Given the description of an element on the screen output the (x, y) to click on. 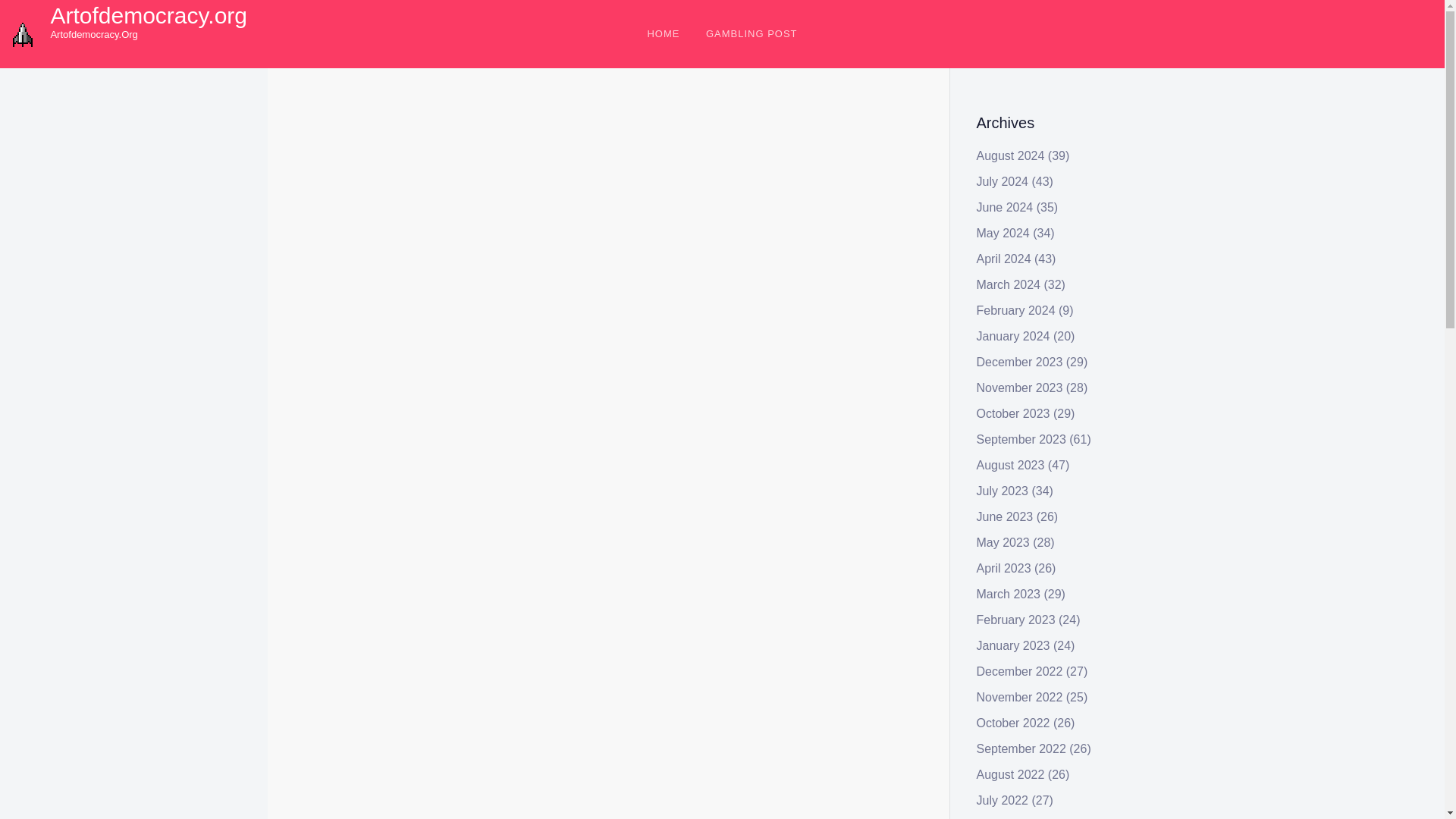
January 2023 (1012, 645)
February 2024 (1015, 309)
April 2023 (1003, 567)
February 2023 (1015, 619)
March 2023 (1008, 594)
admin1989 (404, 143)
April 2024 (1003, 258)
March 2024 (1008, 284)
December 2023 (1019, 361)
August 2022 (1010, 774)
